Given the description of an element on the screen output the (x, y) to click on. 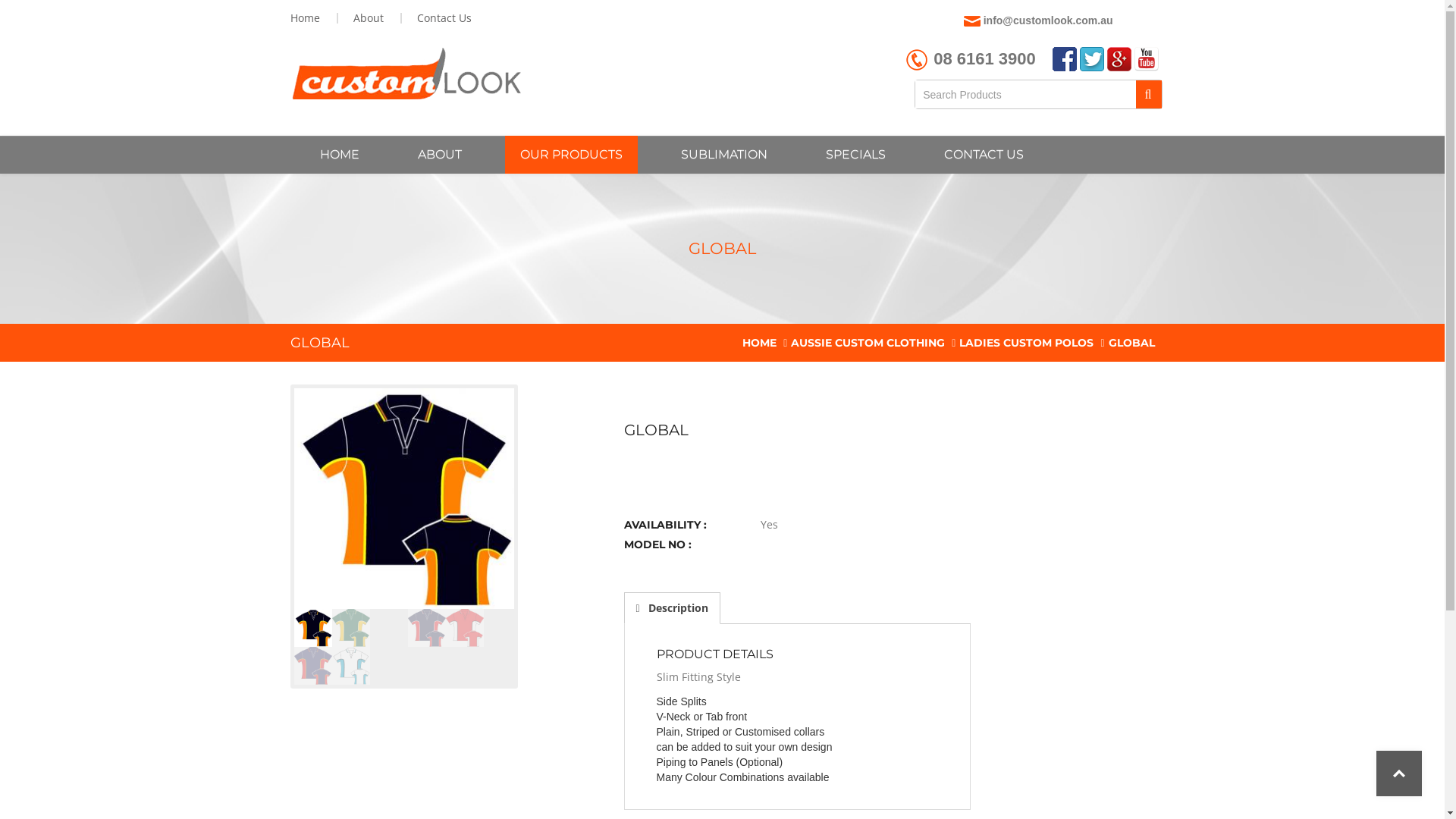
HOME Element type: text (339, 154)
About Element type: text (368, 17)
Custom Mail Element type: hover (971, 21)
OUR PRODUCTS Element type: text (571, 154)
Custom Look Element type: hover (404, 73)
LADIES CUSTOM POLOS Element type: text (1026, 342)
ABOUT Element type: text (438, 154)
Description Element type: text (671, 608)
Home Element type: text (307, 17)
SPECIALS Element type: text (854, 154)
info@customlook.com.au Element type: text (1048, 20)
AUSSIE CUSTOM CLOTHING Element type: text (601, 185)
Contact Us Element type: text (442, 17)
EVENTS & PROMO WEAR Element type: text (759, 185)
AUSSIE CUSTOM CLOTHING Element type: text (867, 342)
SUBLIMATION Element type: text (723, 154)
Custom Phone Icon Element type: hover (916, 59)
CONTACT US Element type: text (983, 154)
HOME Element type: text (759, 342)
